Given the description of an element on the screen output the (x, y) to click on. 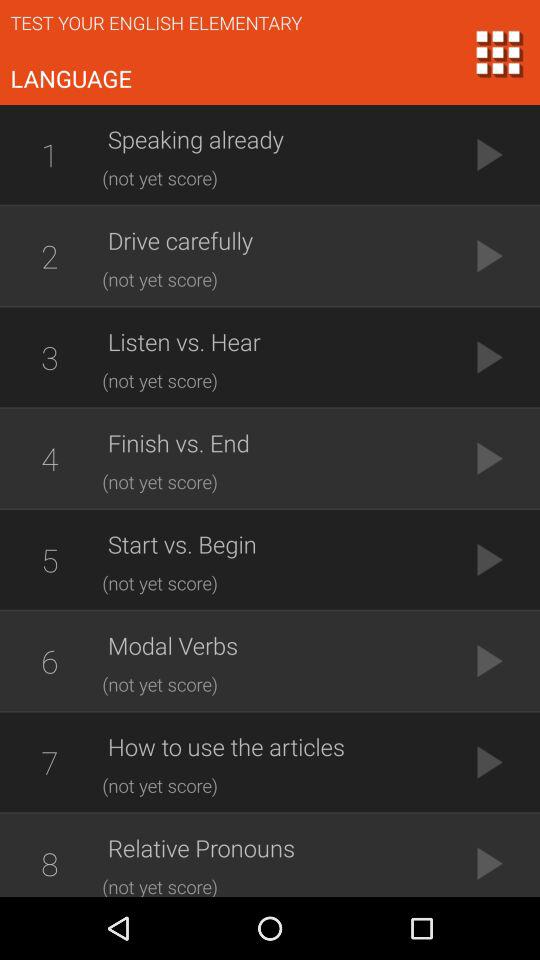
click icon below 4 item (49, 559)
